Given the description of an element on the screen output the (x, y) to click on. 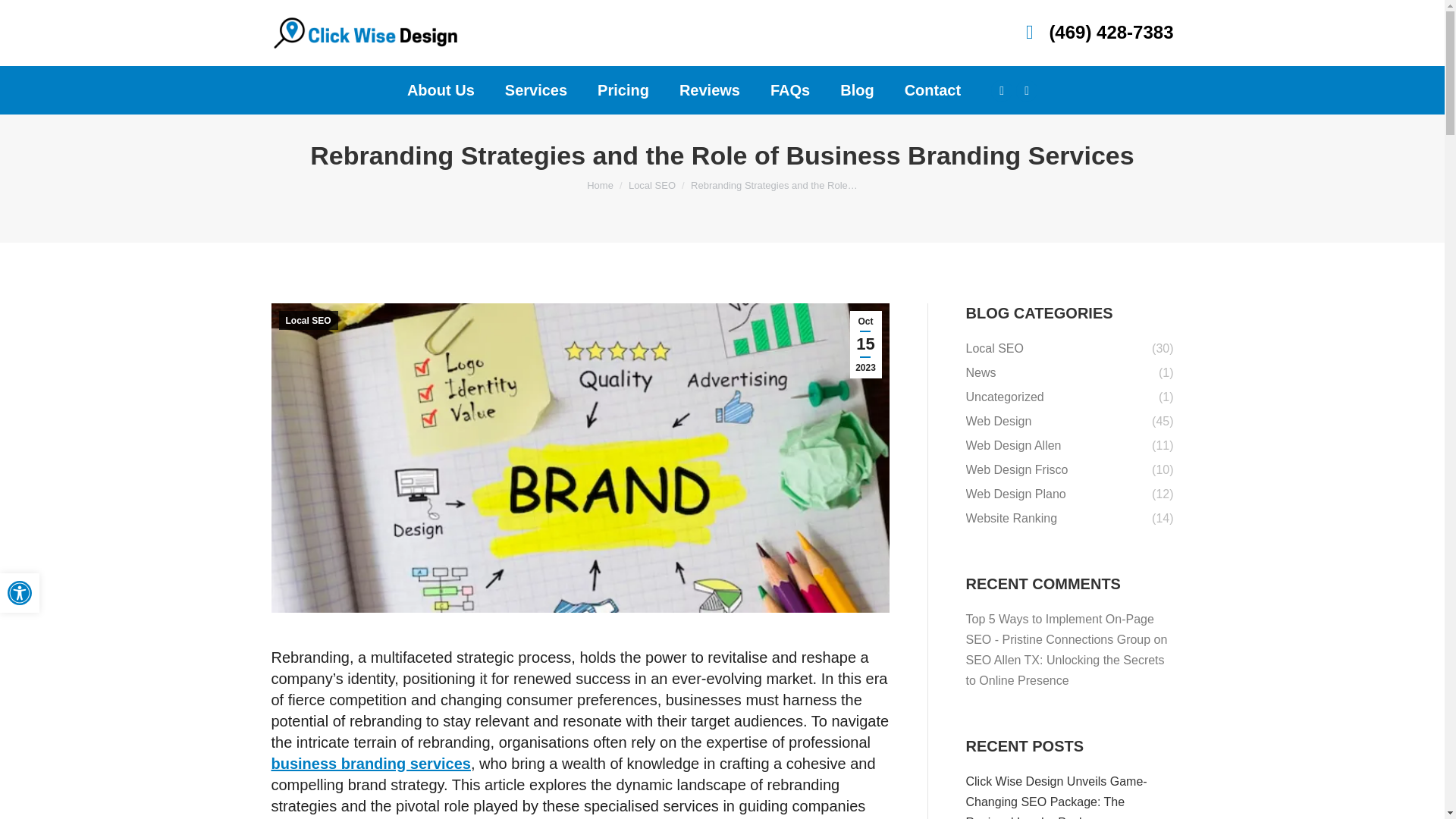
Accessibility Tools (19, 592)
Contact (932, 89)
Pricing (622, 89)
Facebook page opens in new window (1001, 90)
Instagram page opens in new window (1026, 90)
About Us (440, 89)
Blog (856, 89)
Accessibility Tools (19, 592)
FAQs (789, 89)
Instagram page opens in new window (1026, 90)
Services (19, 592)
Facebook page opens in new window (536, 89)
Local SEO (1001, 90)
